Given the description of an element on the screen output the (x, y) to click on. 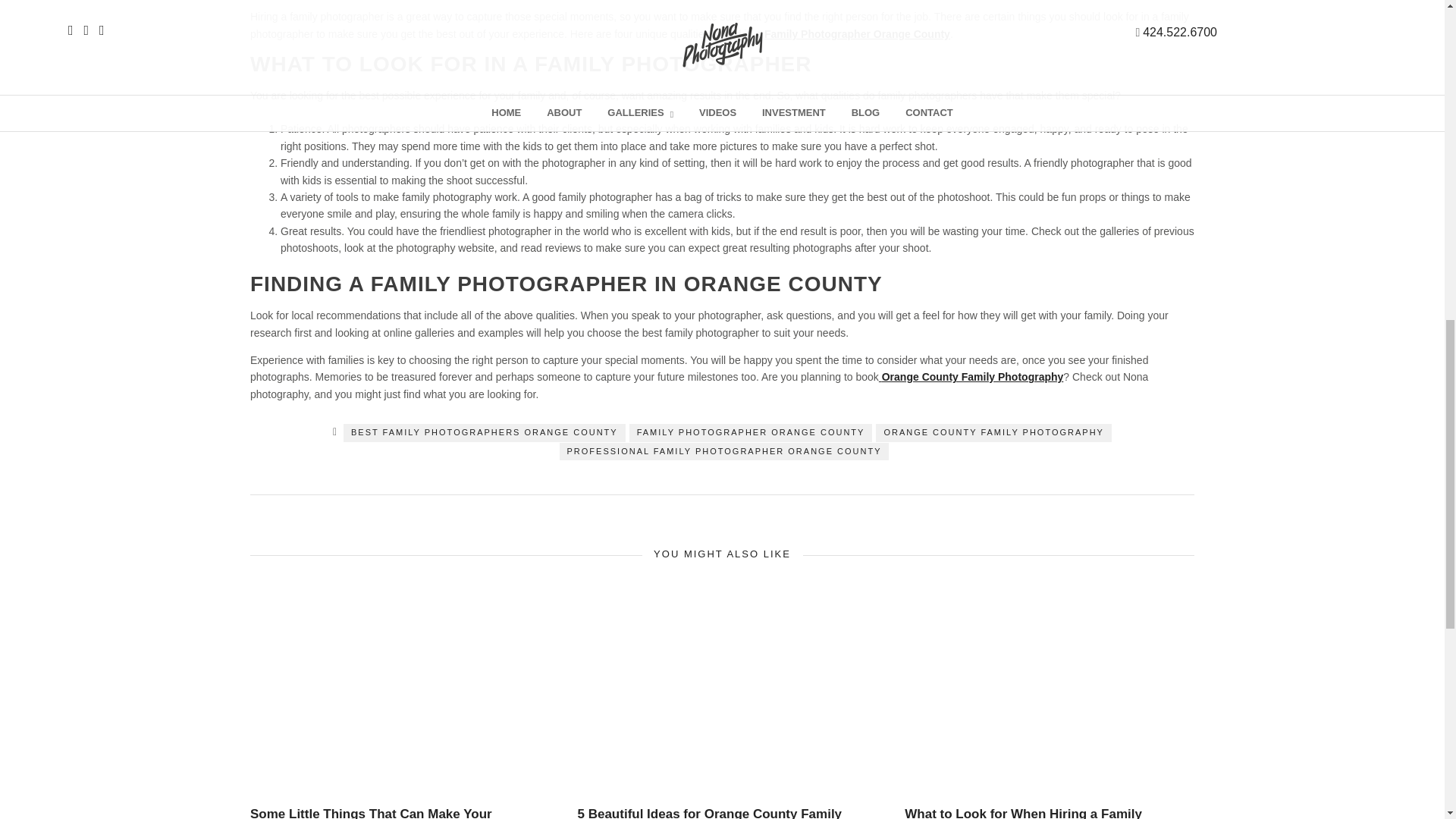
5 Beautiful Ideas for Orange County Family Photography (710, 812)
What to Look for When Hiring a Family Photographer? (1022, 812)
